Given the description of an element on the screen output the (x, y) to click on. 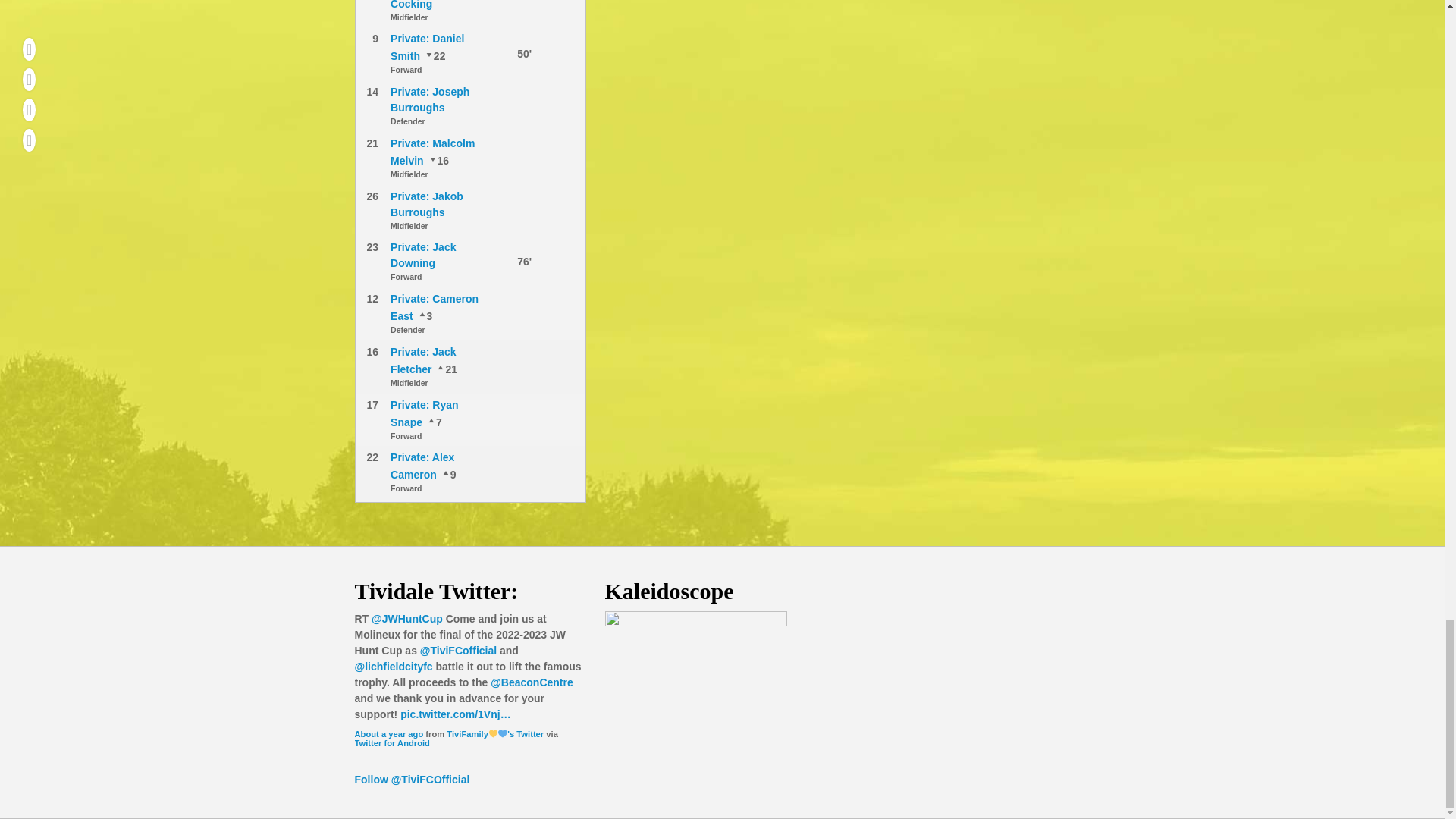
Private: Curtis Cocking (426, 4)
Private: Daniel Smith (448, 474)
Private: Alex Cameron (434, 55)
Private: Jack Fletcher (437, 160)
Private: Malcolm Melvin (445, 369)
Private: Joseph Burroughs (429, 99)
Goal (506, 53)
Private: Daniel Smith (427, 47)
Private: Taylor Townsend (433, 421)
Private: Bradley Welding (424, 316)
Goal (506, 261)
